Given the description of an element on the screen output the (x, y) to click on. 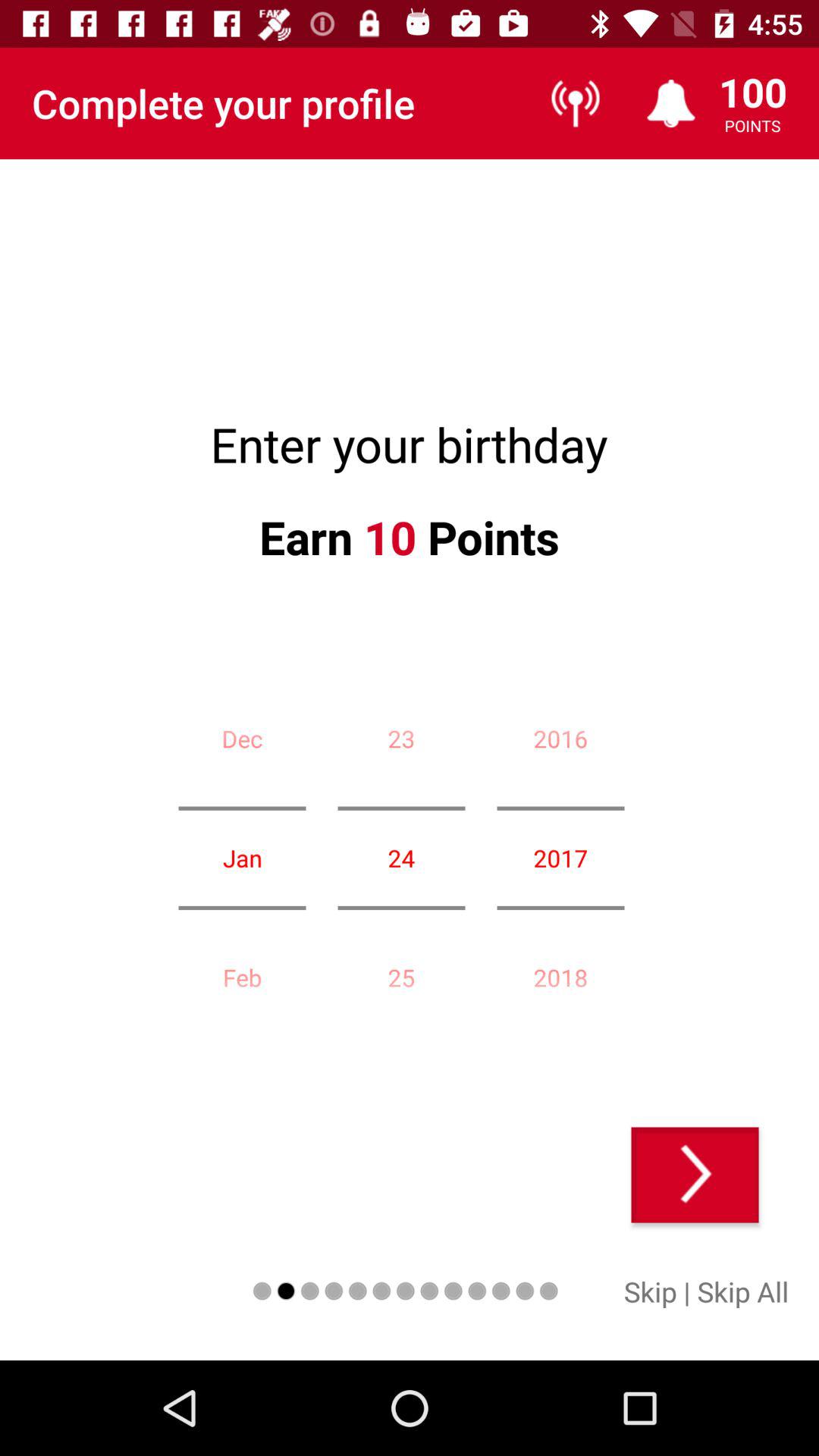
next arrow icon (694, 1174)
